Given the description of an element on the screen output the (x, y) to click on. 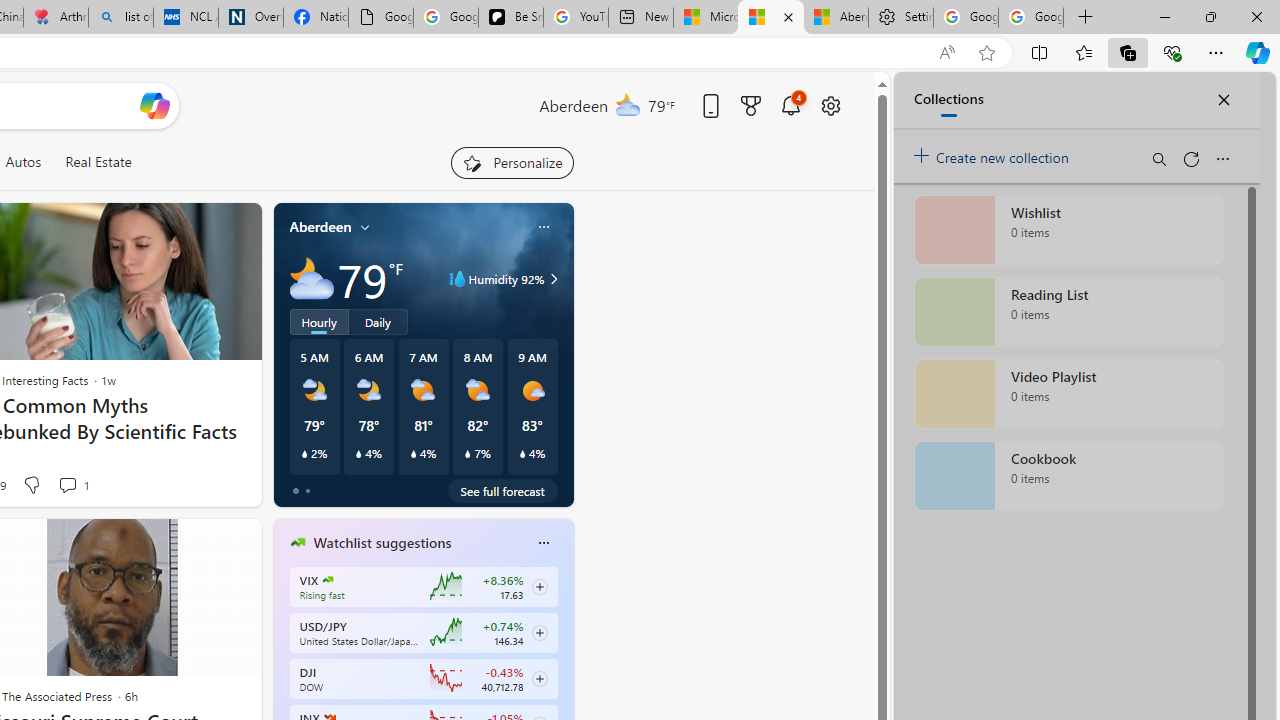
Hide this story (201, 542)
CBOE Market Volatility Index (328, 579)
Class: weather-current-precipitation-glyph (522, 453)
Mostly cloudy (311, 278)
